Given the description of an element on the screen output the (x, y) to click on. 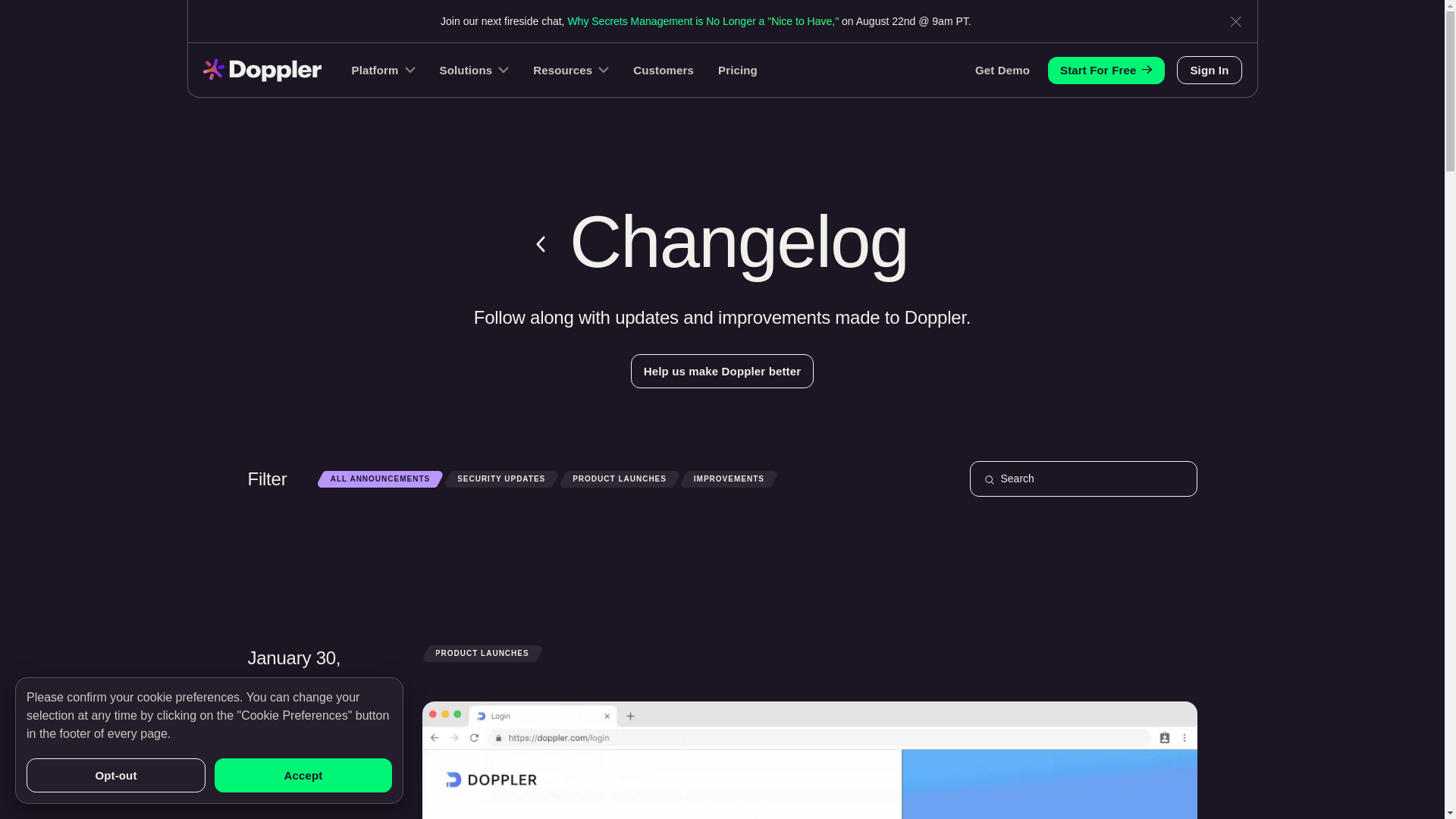
SECURITY UPDATES (501, 478)
Get Demo (1002, 69)
Solutions (474, 70)
Why Secrets Management is No Longer a "Nice to Have," (702, 21)
Help us make Doppler better (721, 370)
Pricing (736, 70)
Resources (570, 70)
ALL ANNOUNCEMENTS (380, 478)
Platform (384, 70)
Start For Free (1106, 69)
